Given the description of an element on the screen output the (x, y) to click on. 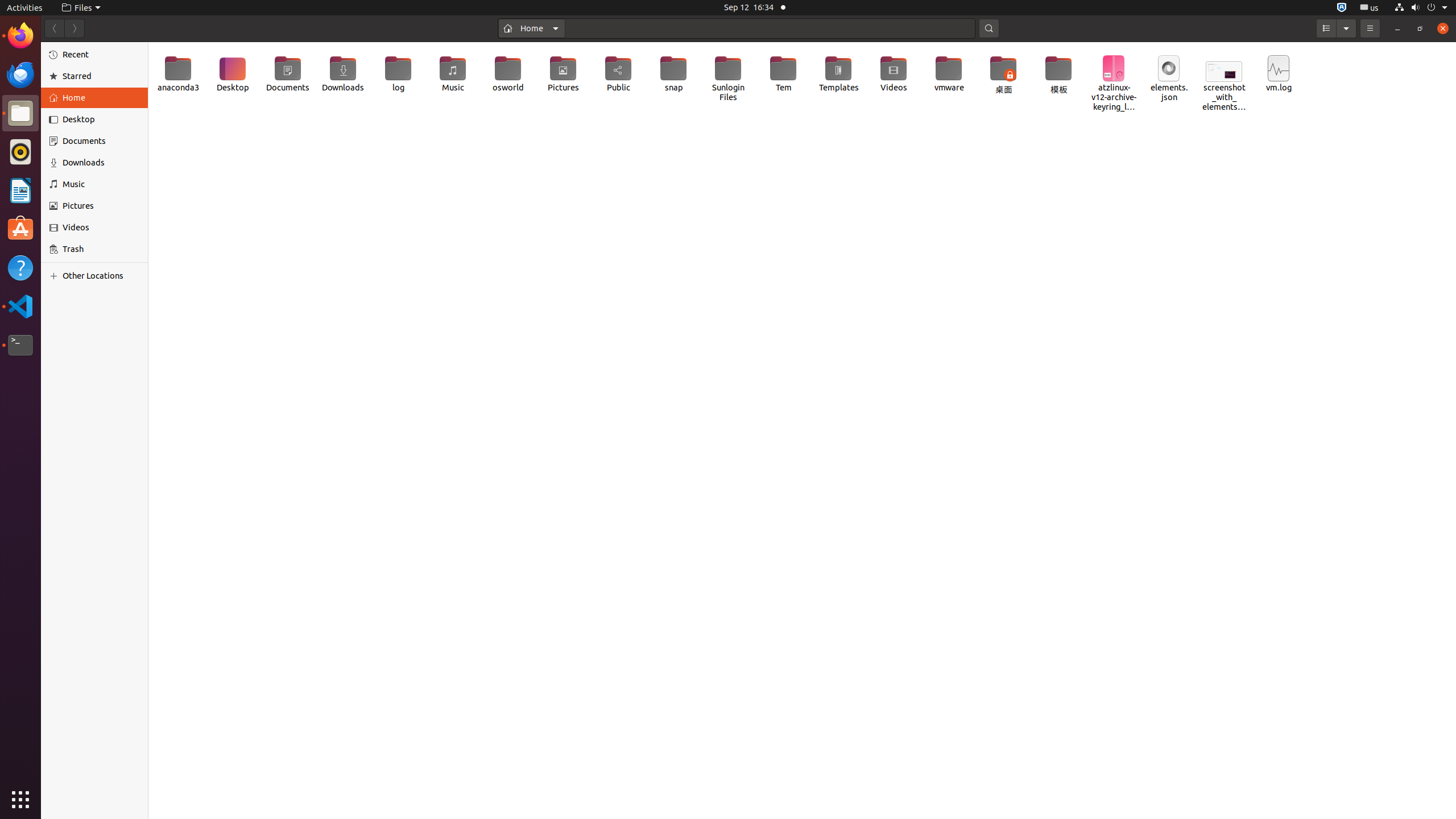
Public Element type: canvas (618, 73)
Terminal Element type: push-button (20, 344)
Tem Element type: canvas (783, 73)
Desktop Element type: label (100, 119)
